Given the description of an element on the screen output the (x, y) to click on. 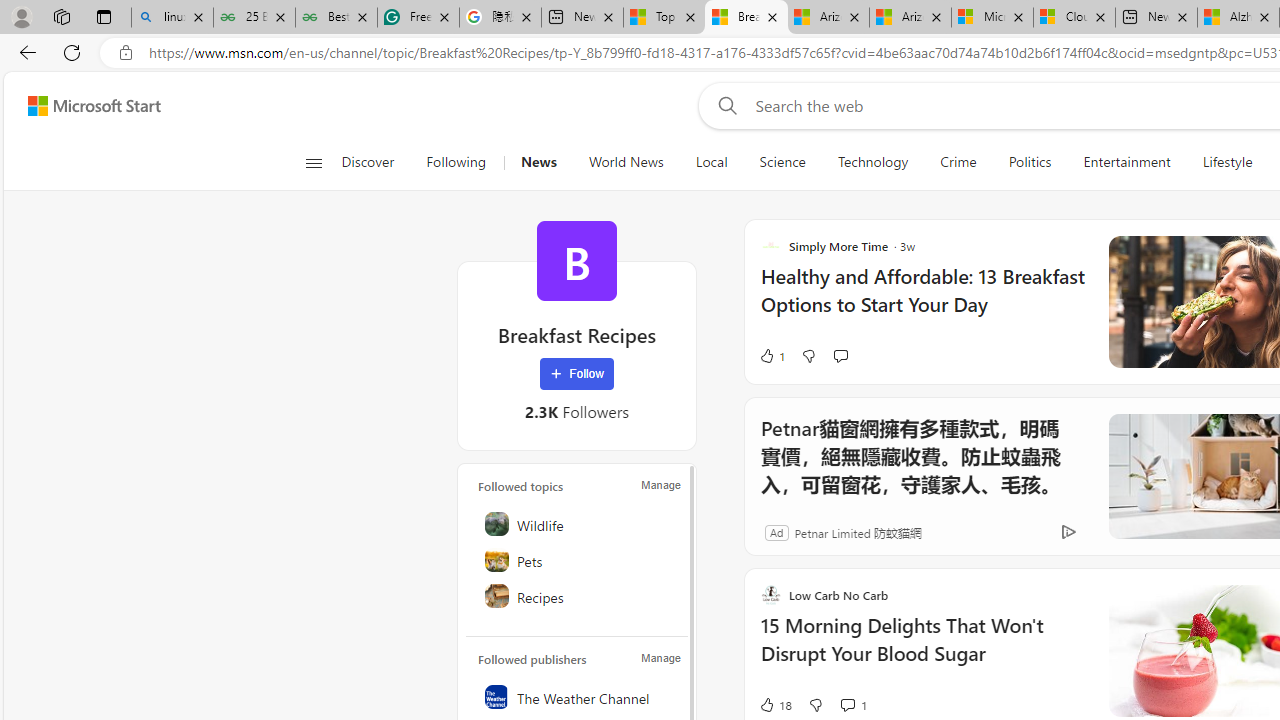
Lifestyle (1227, 162)
Entertainment (1126, 162)
The Weather Channel (578, 696)
Top Stories - MSN (664, 17)
Class: button-glyph (313, 162)
Follow (577, 373)
Entertainment (1126, 162)
18 Like (775, 704)
Technology (872, 162)
Free AI Writing Assistance for Students | Grammarly (418, 17)
